Given the description of an element on the screen output the (x, y) to click on. 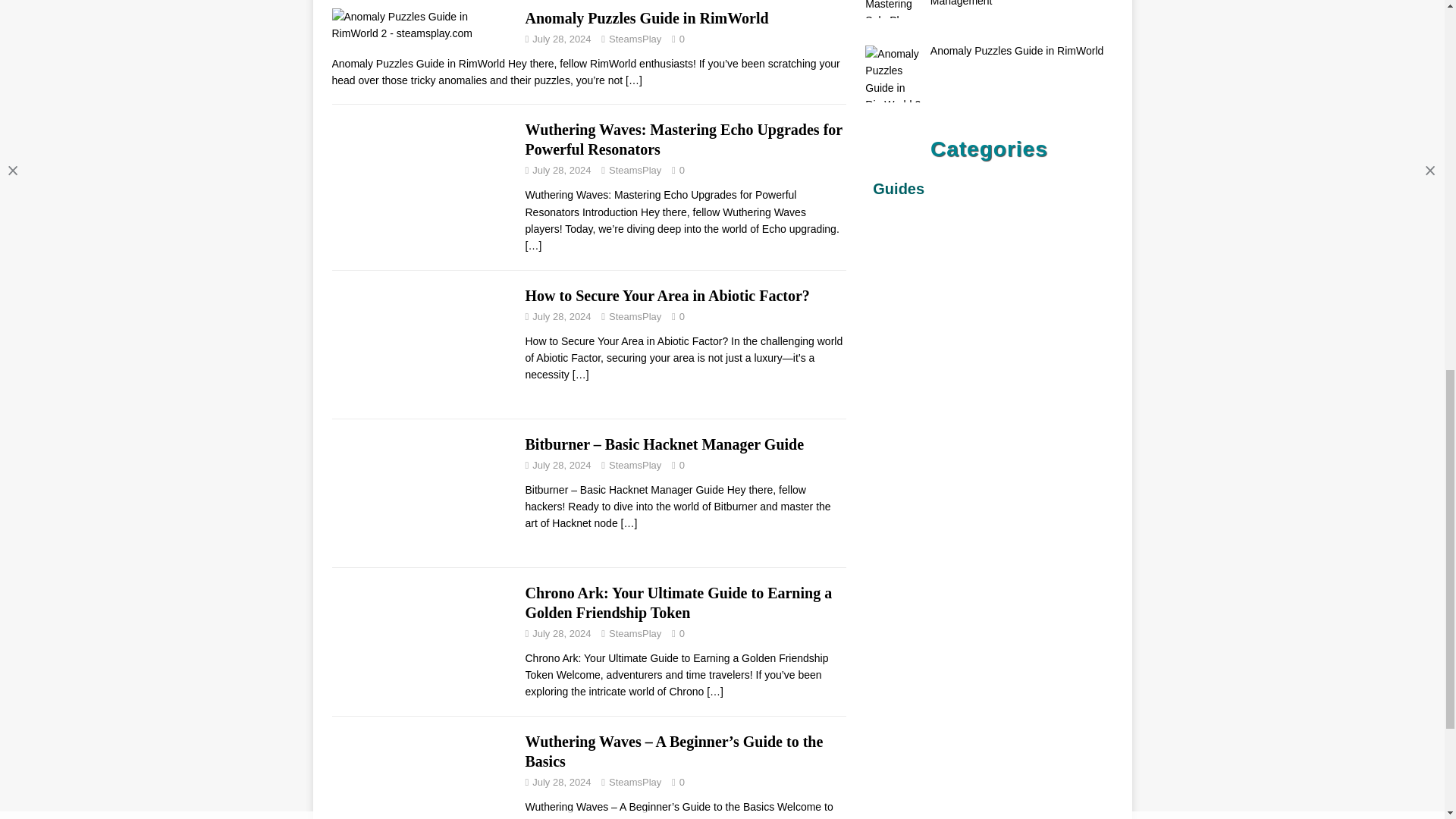
SteamsPlay (634, 170)
SteamsPlay (634, 39)
Anomaly Puzzles Guide in RimWorld (634, 80)
Anomaly Puzzles Guide in RimWorld (646, 17)
How to Secure Your Area in Abiotic Factor? (580, 374)
Anomaly Puzzles Guide in RimWorld 5 (421, 25)
How to Secure Your Area in Abiotic Factor? (666, 295)
SteamsPlay (634, 316)
